Given the description of an element on the screen output the (x, y) to click on. 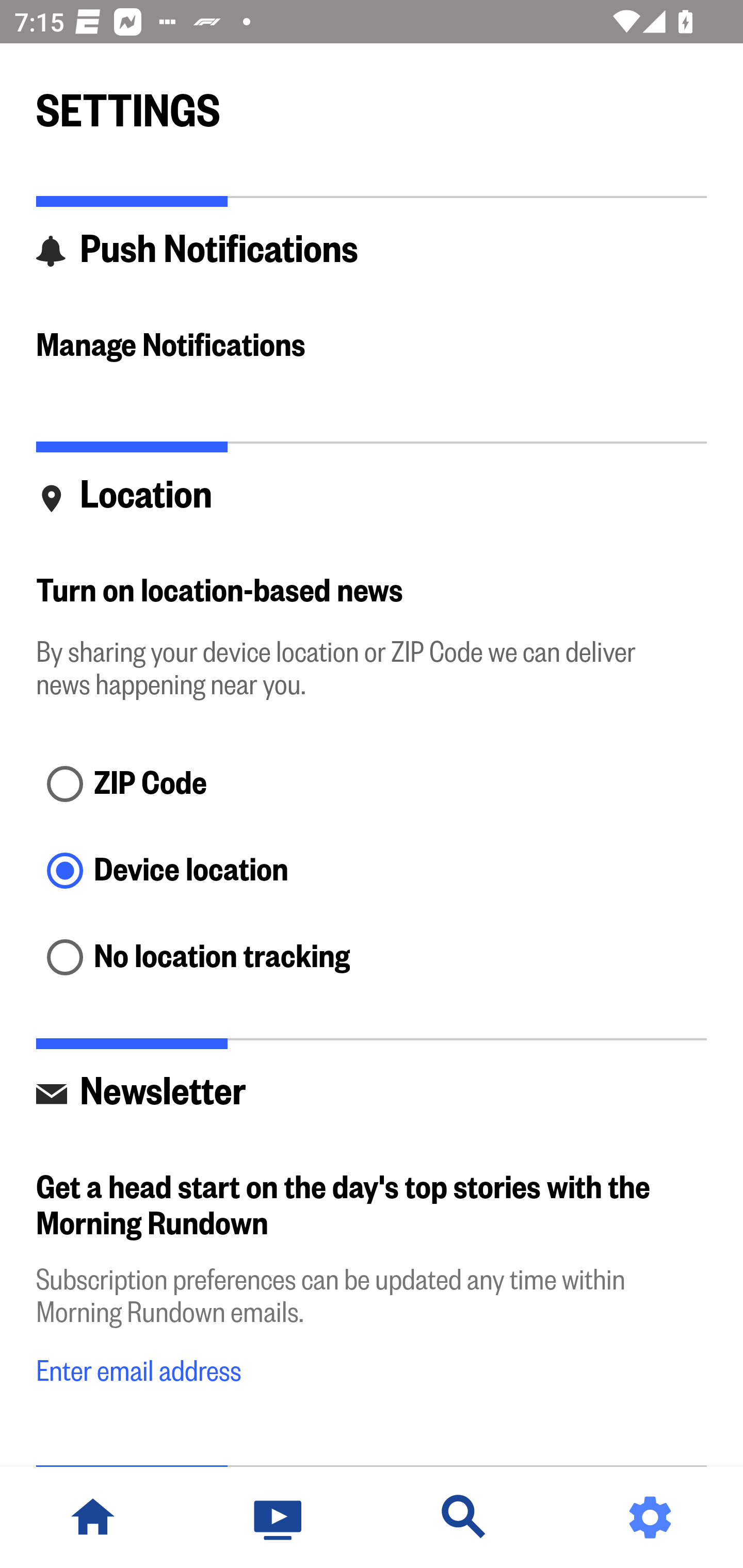
SETTINGS (371, 101)
Manage Notifications (371, 346)
ZIP Code (371, 785)
Device location (371, 872)
No location tracking (371, 958)
NBC News Home (92, 1517)
Watch (278, 1517)
Discover (464, 1517)
